Given the description of an element on the screen output the (x, y) to click on. 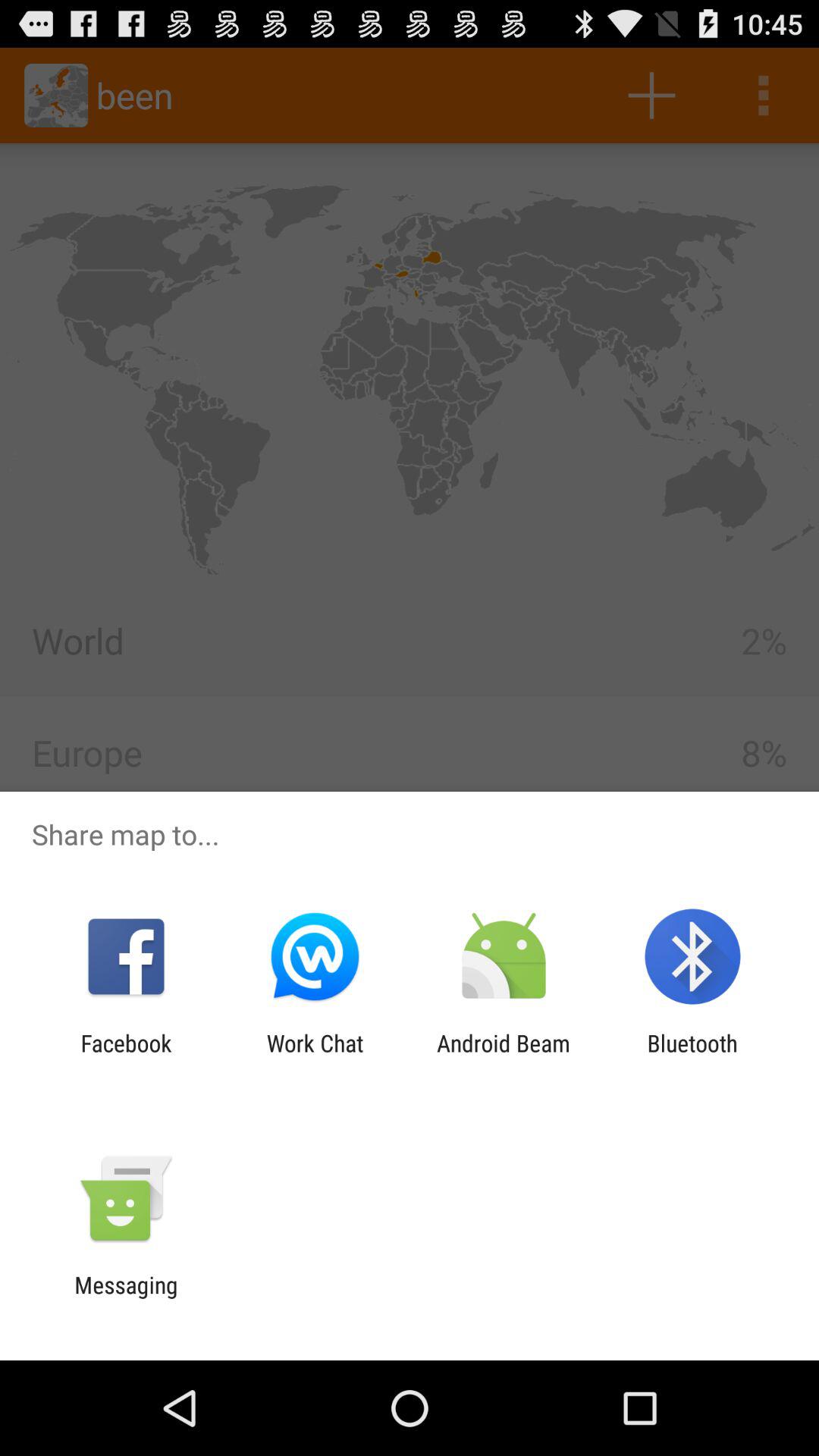
launch app to the right of the work chat item (503, 1056)
